Given the description of an element on the screen output the (x, y) to click on. 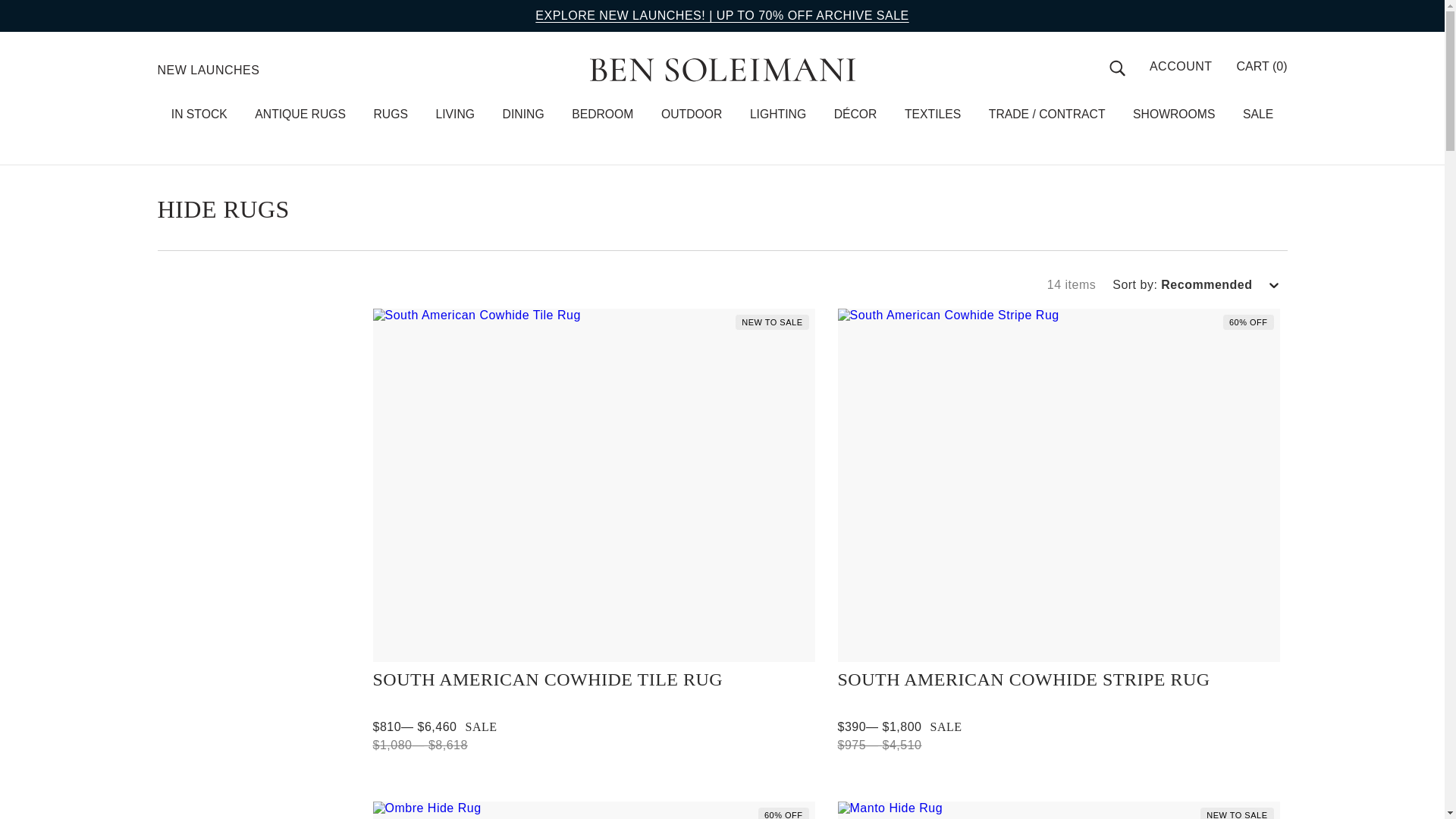
Ben Soleimani (722, 70)
ACCOUNT (1181, 66)
NEW LAUNCHES (208, 69)
IN STOCK (199, 113)
